Given the description of an element on the screen output the (x, y) to click on. 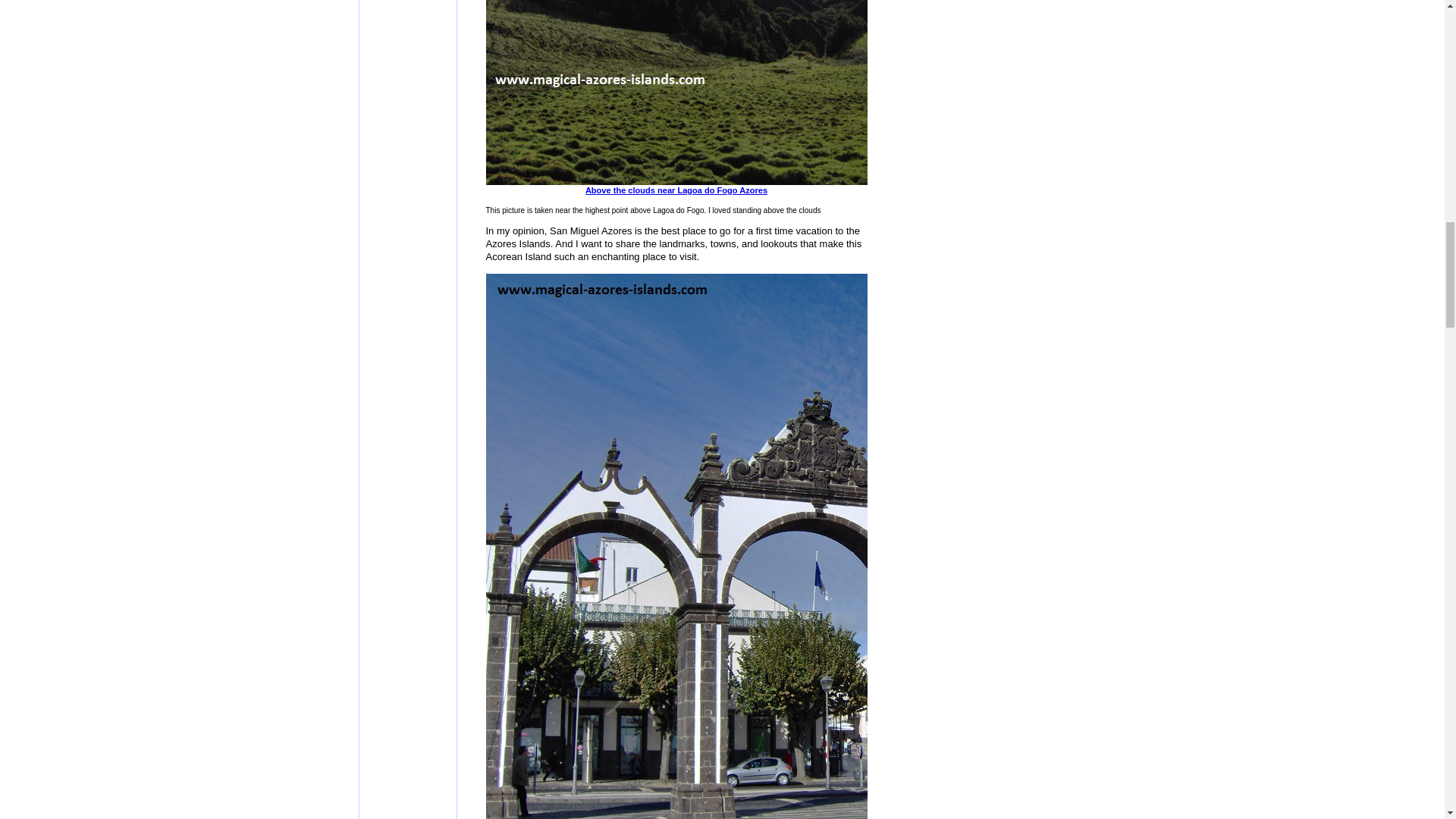
Above the clouds near Lagoa do Fogo Azores (863, 185)
Above the clouds near Lagoa do Fogo Azores (863, 185)
